Given the description of an element on the screen output the (x, y) to click on. 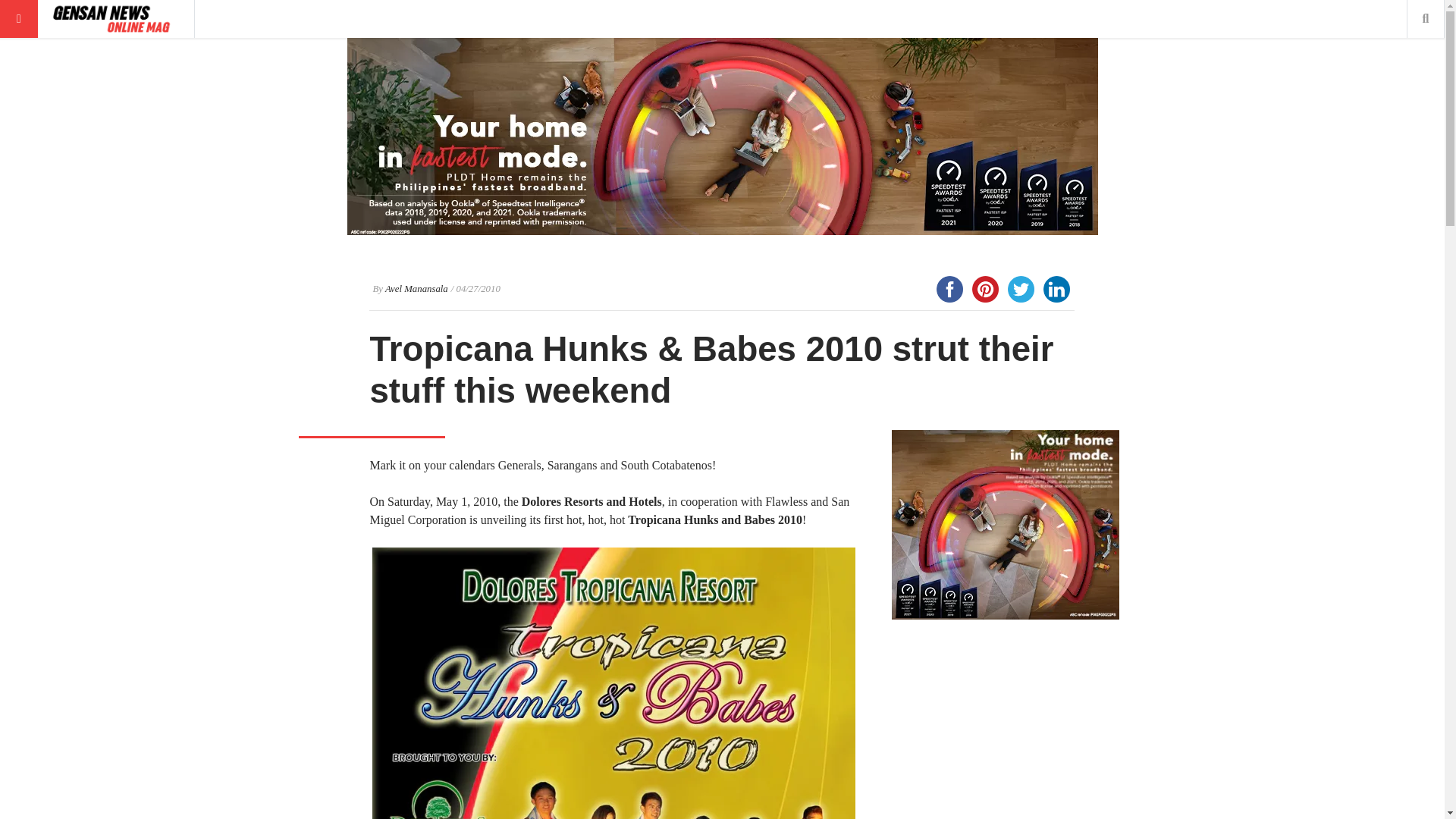
linkedin (1056, 289)
Posts by Avel Manansala (416, 288)
tropicana hunks and babes 2010 (614, 683)
facebook (949, 289)
twitter (1021, 289)
pinterest (985, 289)
